Given the description of an element on the screen output the (x, y) to click on. 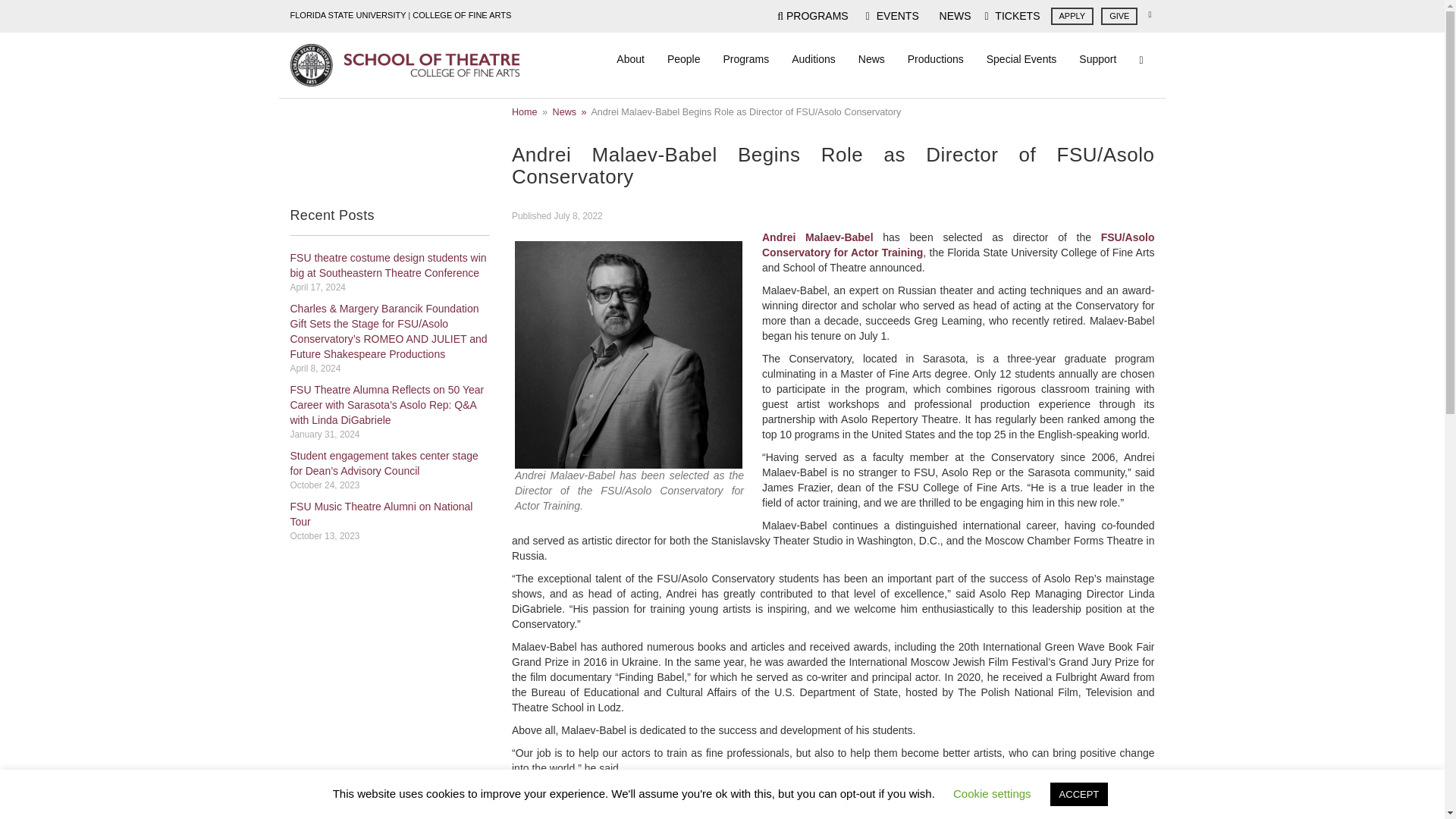
TICKETS (1012, 16)
COLLEGE OF FINE ARTS (461, 14)
news-events (389, 215)
School of Theatre (403, 64)
FSU Sites (1149, 14)
NEWS (952, 15)
APPLY (1072, 16)
EVENTS (892, 16)
GIVE (1118, 16)
PROGRAMS (812, 15)
FLORIDA STATE UNIVERSITY (347, 14)
